Given the description of an element on the screen output the (x, y) to click on. 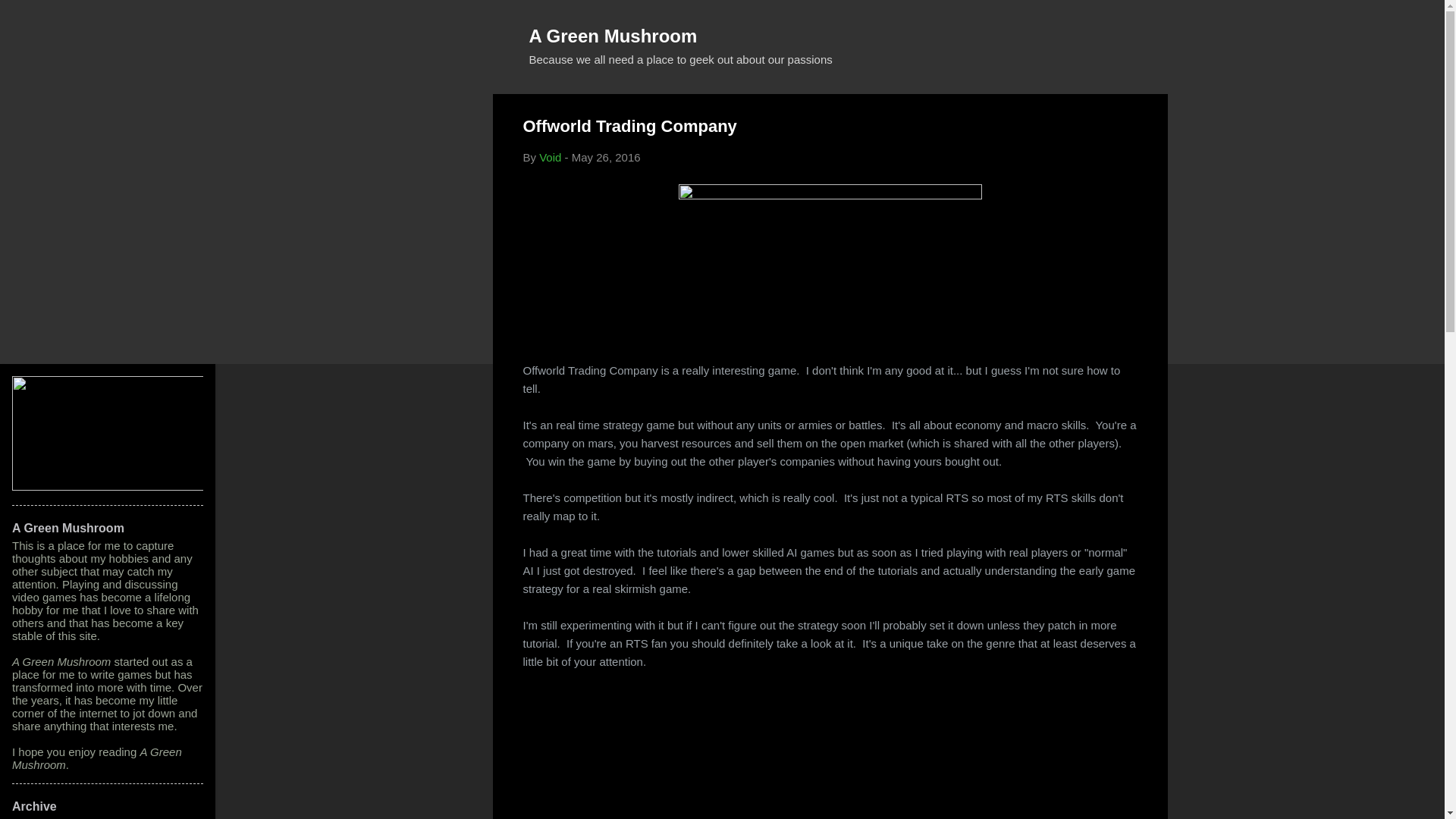
permanent link (606, 156)
A Green Mushroom (613, 35)
author profile (549, 156)
May 26, 2016 (606, 156)
Void (549, 156)
Search (29, 18)
